Given the description of an element on the screen output the (x, y) to click on. 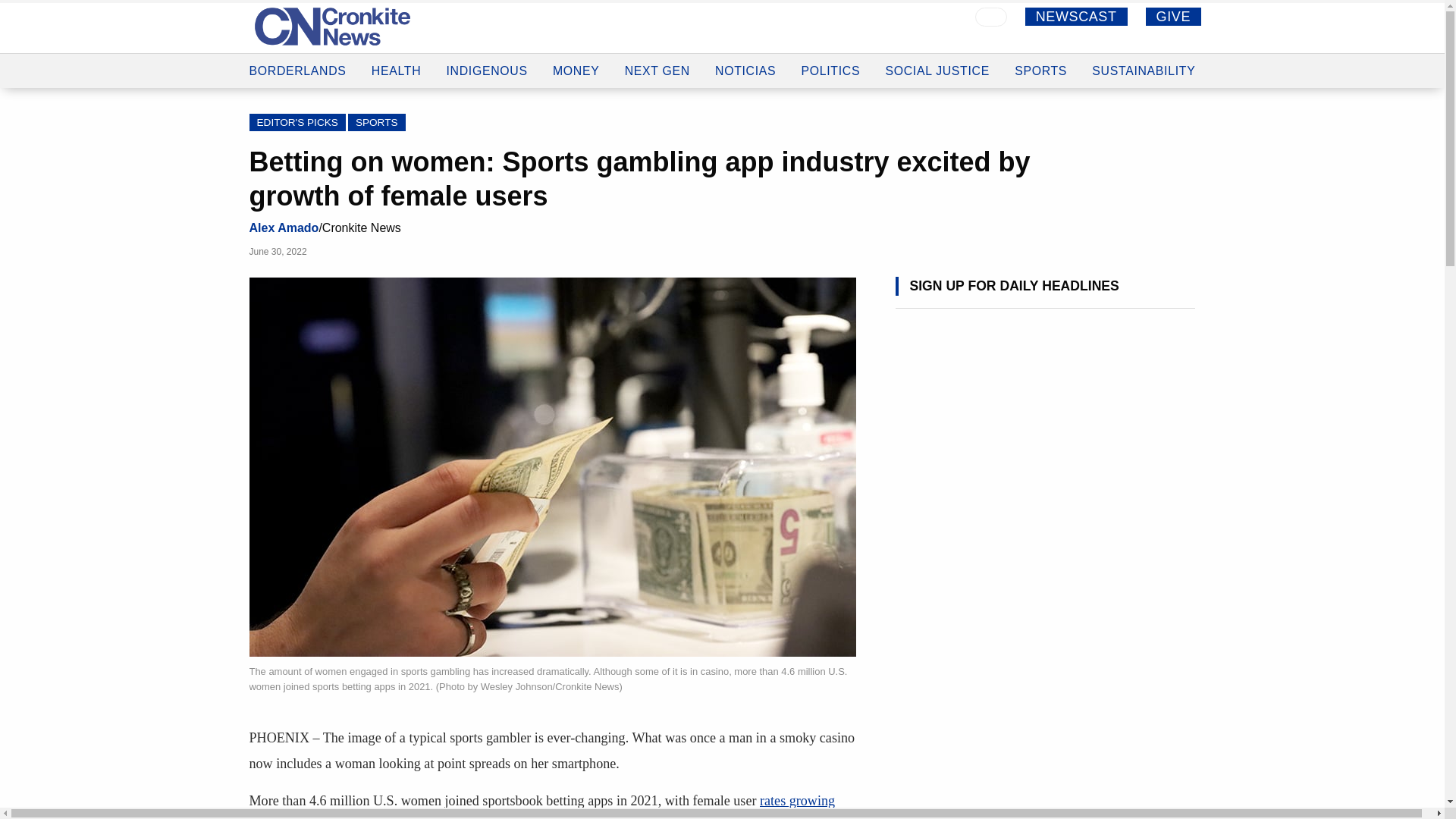
EDITOR'S PICKS (296, 122)
SOCIAL JUSTICE (937, 60)
HEALTH (395, 49)
NEXT GEN (657, 56)
NEWSCAST (1075, 16)
Alex Amado (283, 228)
INDIGENOUS (486, 51)
Cronkite News (332, 26)
SPORTS (1040, 61)
POLITICS (831, 59)
